Given the description of an element on the screen output the (x, y) to click on. 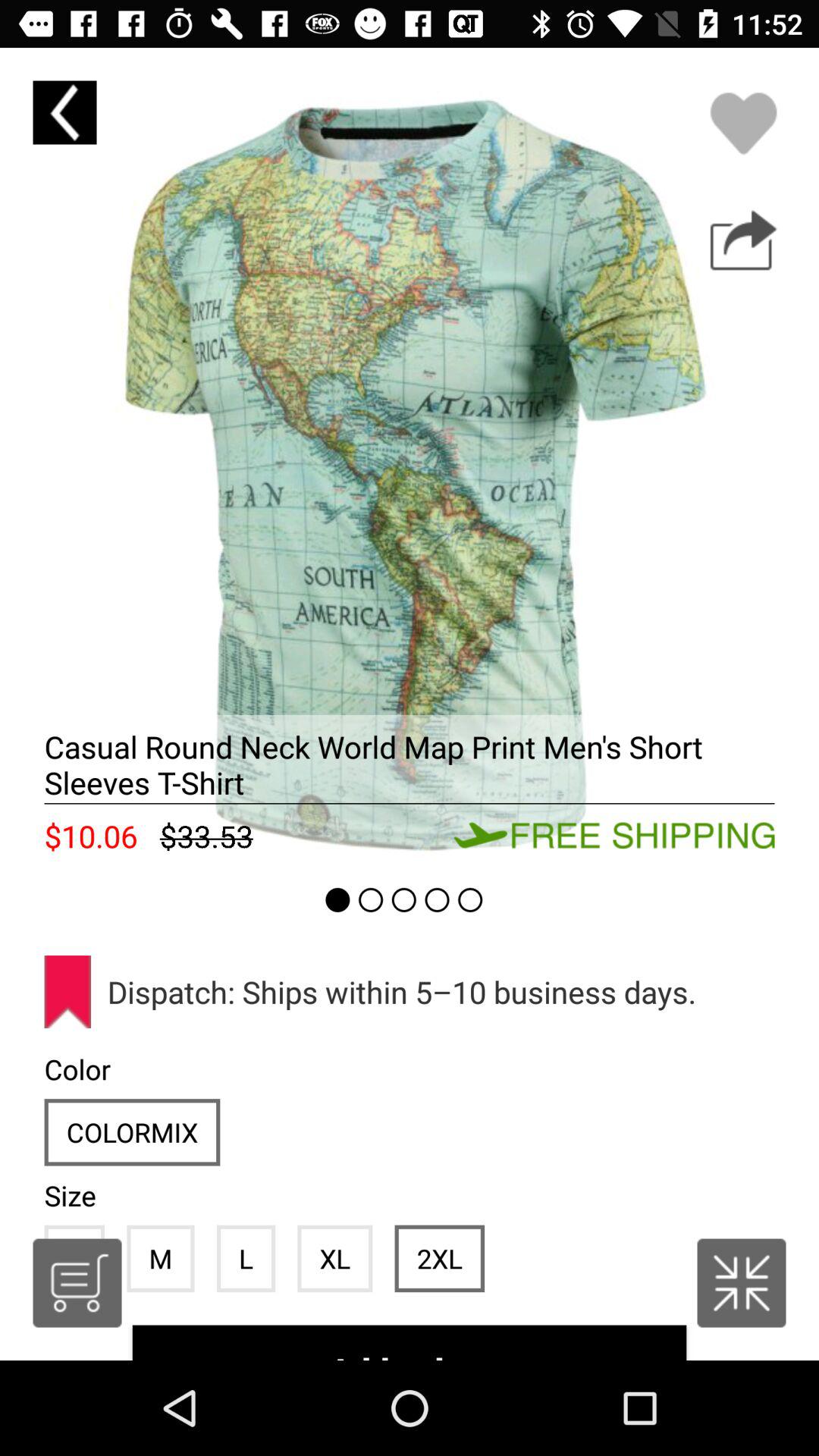
open the icon below the dispatch ships within item (334, 1258)
